Given the description of an element on the screen output the (x, y) to click on. 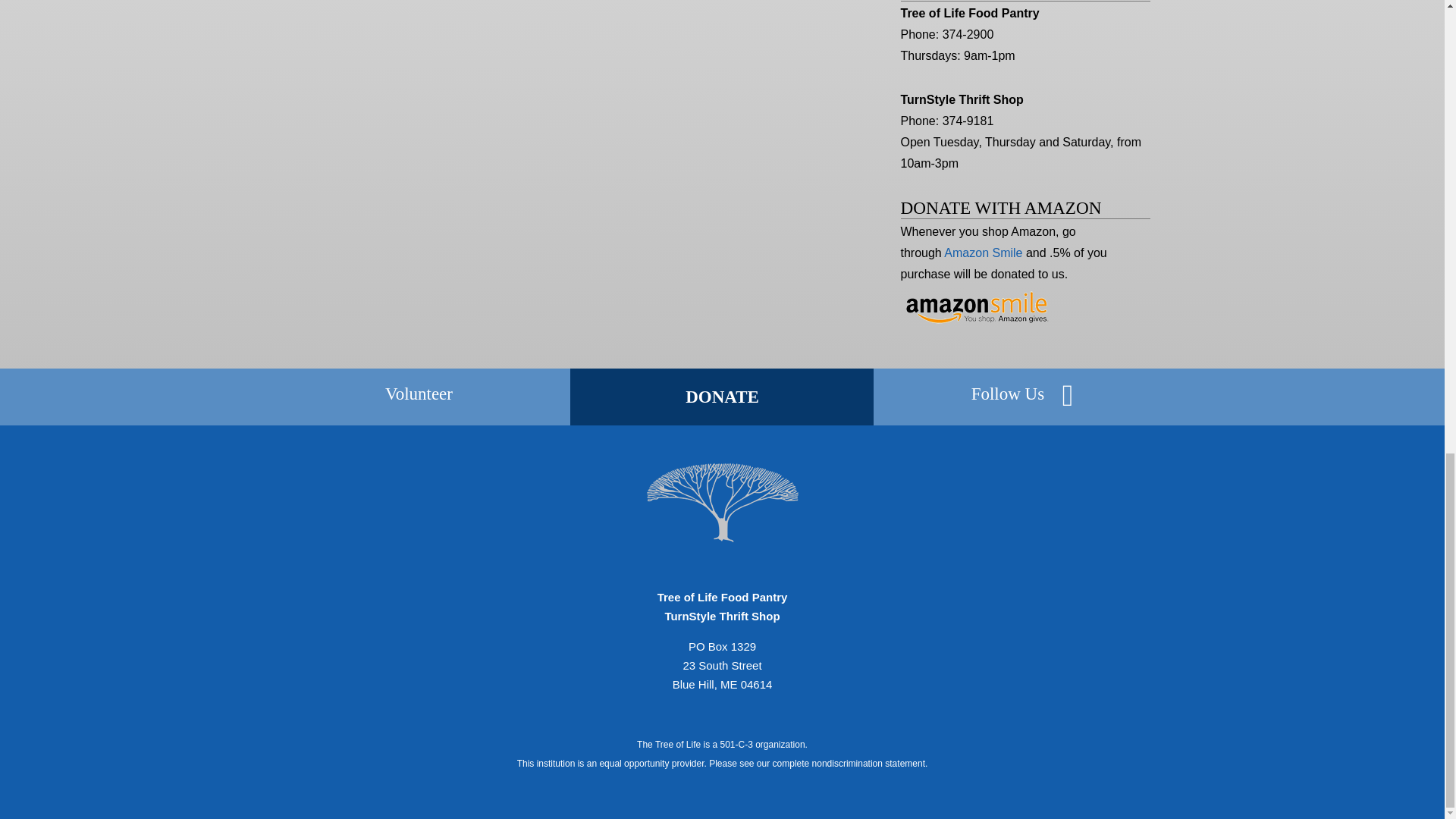
Like us on Facebook (1067, 395)
Amazon Smile (982, 252)
Volunteer (418, 393)
Follow Us (1008, 393)
Volunteer (418, 393)
Like us on Facebook (1008, 393)
DONATE (721, 396)
